Given the description of an element on the screen output the (x, y) to click on. 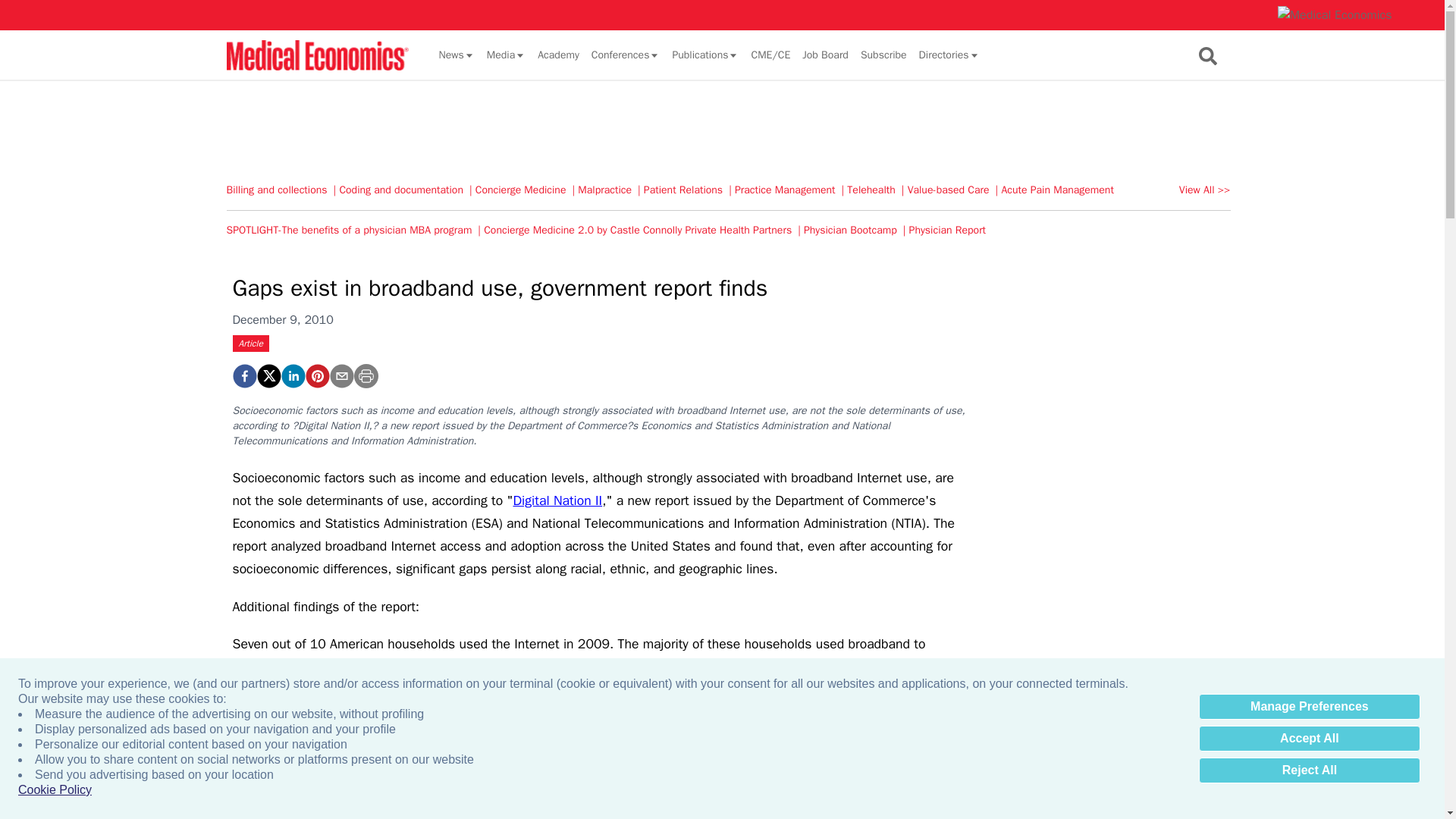
Reject All (1309, 769)
Accept All (1309, 738)
Academy (558, 54)
Gaps exist in broadband use, government report finds (316, 375)
Cookie Policy (54, 789)
Gaps exist in broadband use, government report finds (243, 375)
Manage Preferences (1309, 706)
